Given the description of an element on the screen output the (x, y) to click on. 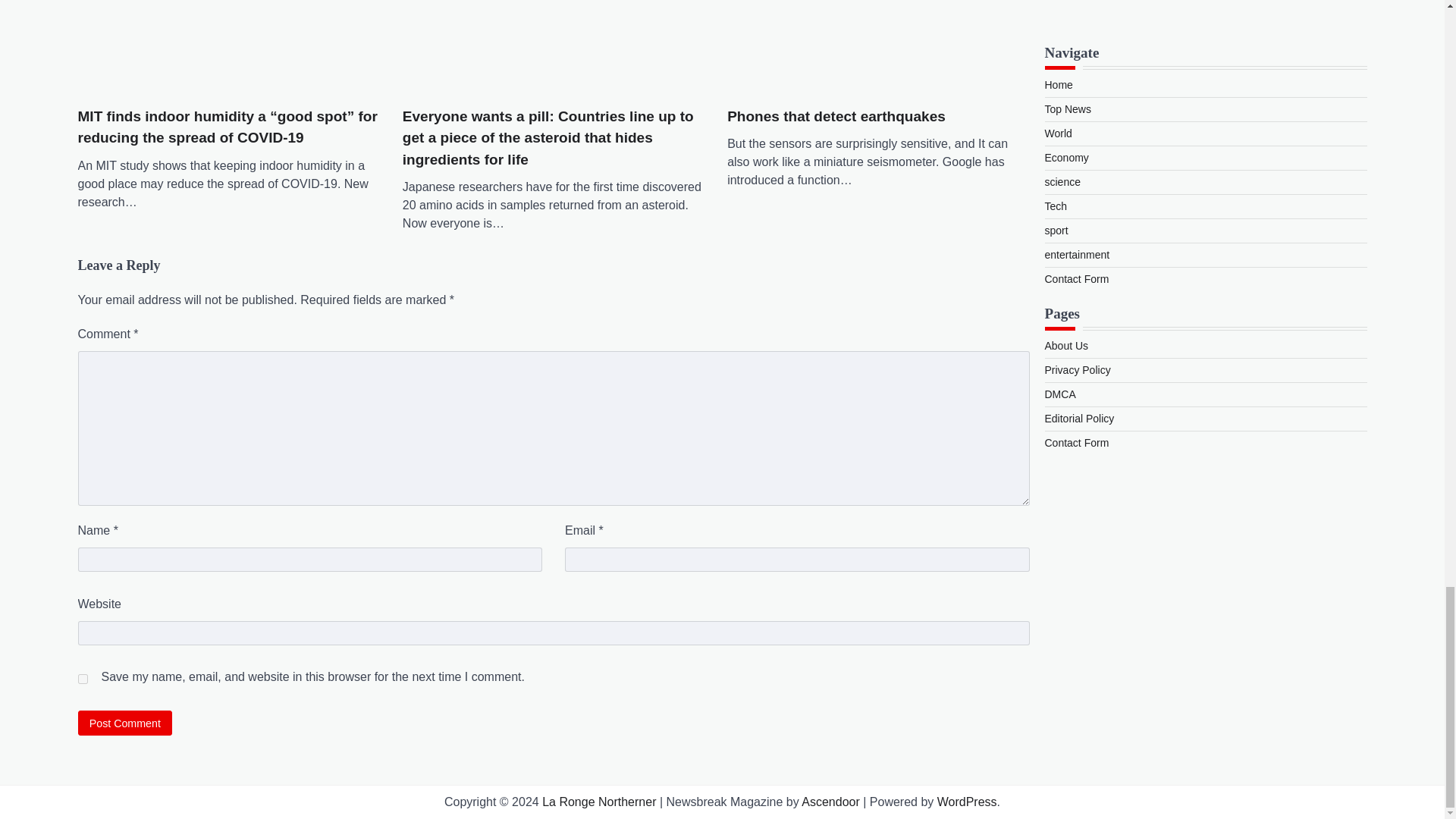
Phones that detect earthquakes (877, 45)
Phones that detect earthquakes (835, 116)
Post Comment (124, 722)
Post Comment (124, 722)
yes (82, 678)
